Given the description of an element on the screen output the (x, y) to click on. 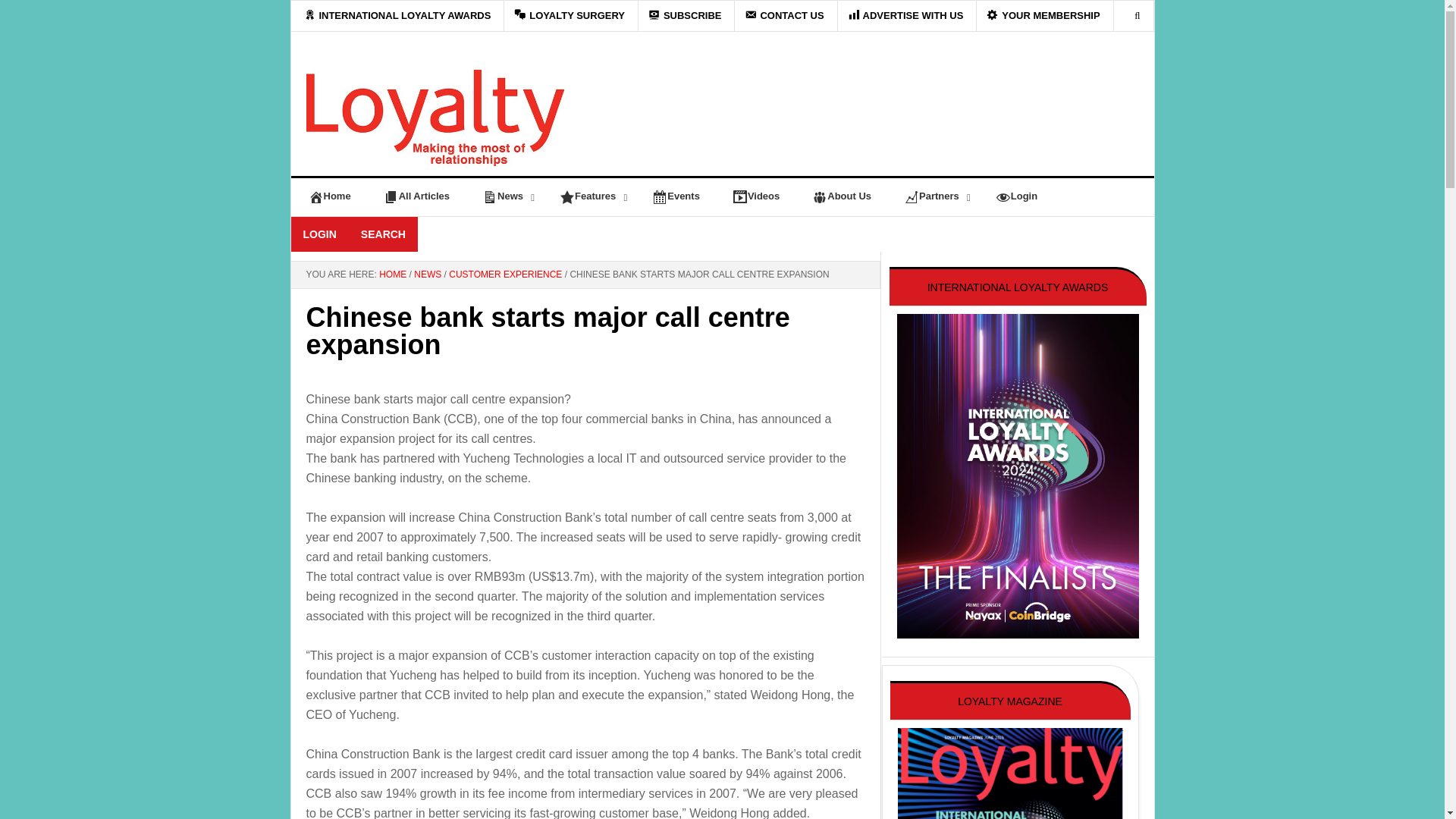
INTERNATIONAL LOYALTY AWARDS (398, 15)
Home (328, 196)
SUBSCRIBE (684, 15)
CONTACT US (784, 15)
ADVERTISE WITH US (905, 15)
News (504, 196)
LOYALTY SURGERY (569, 15)
All Articles (416, 196)
